Given the description of an element on the screen output the (x, y) to click on. 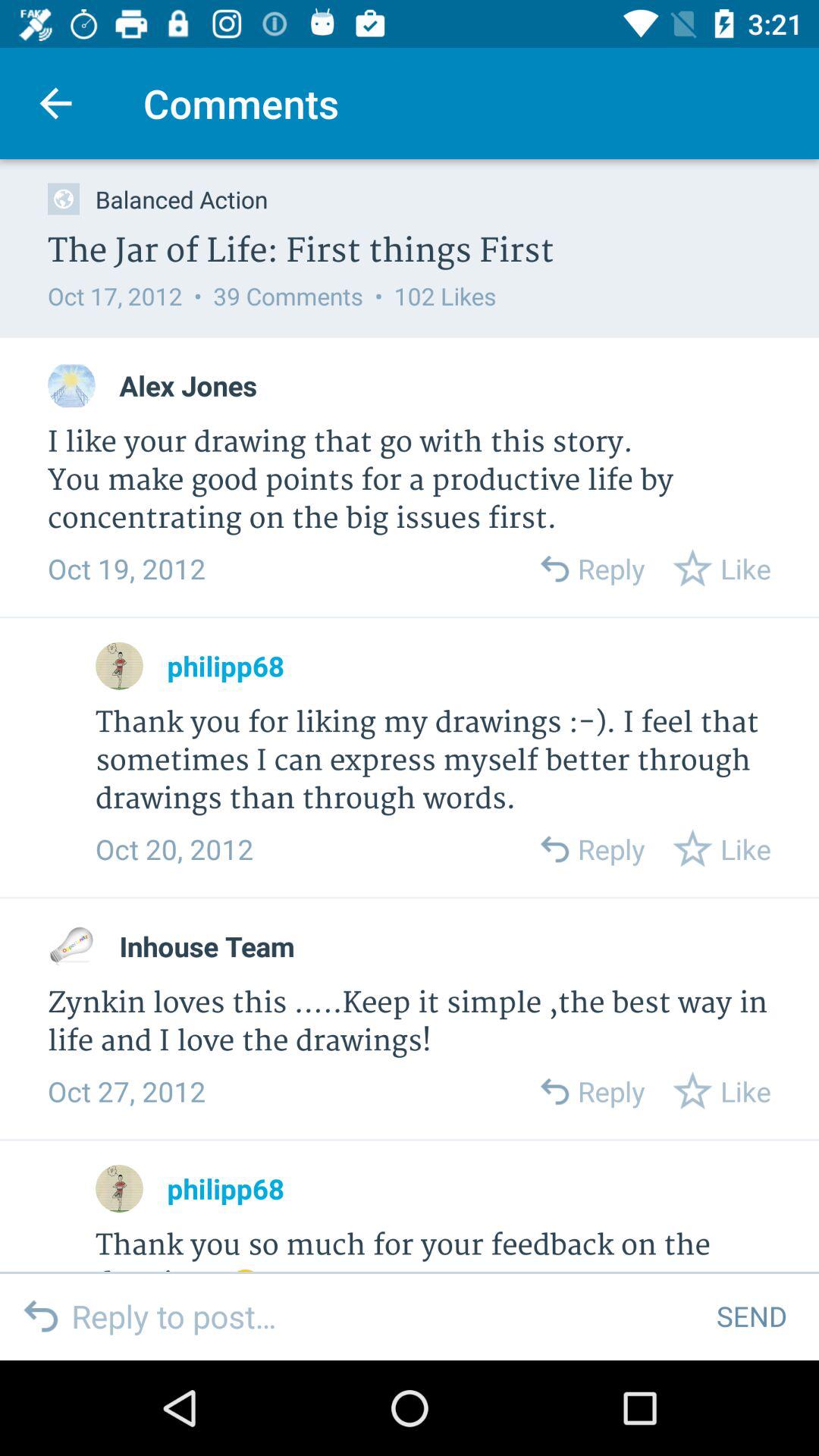
go to person 's profile (119, 1188)
